Given the description of an element on the screen output the (x, y) to click on. 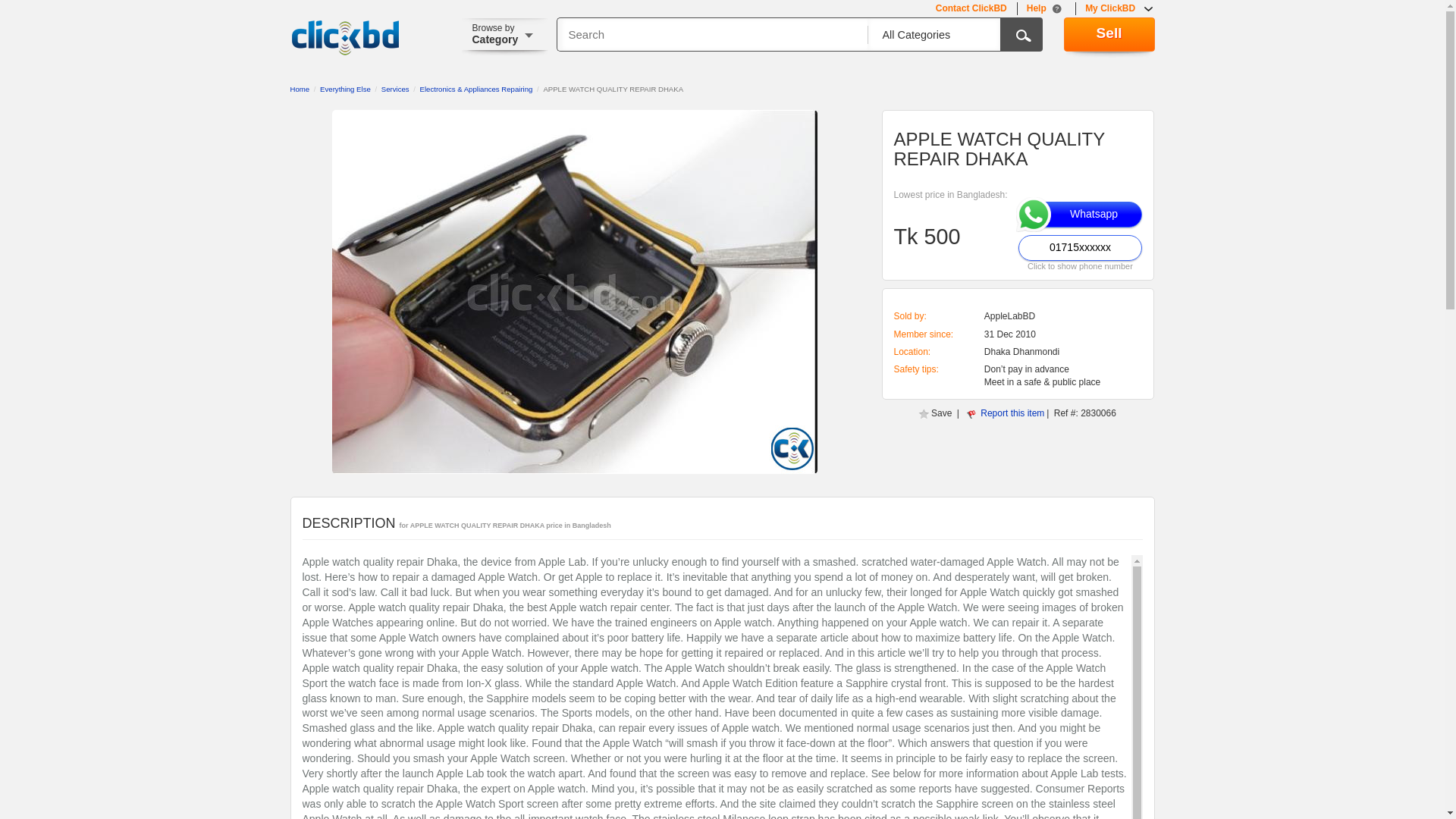
Everything Else (345, 89)
Home (298, 89)
Browse by Category (510, 36)
Help (1045, 8)
search (1020, 34)
Sell (1108, 34)
All Categories (927, 34)
ClickBD.com, The Largest E-commerce Site in Bangladesh (344, 37)
Report this item (1011, 412)
Whatsapp (1079, 214)
search (1020, 34)
Services (395, 89)
Contact ClickBD (971, 8)
